Given the description of an element on the screen output the (x, y) to click on. 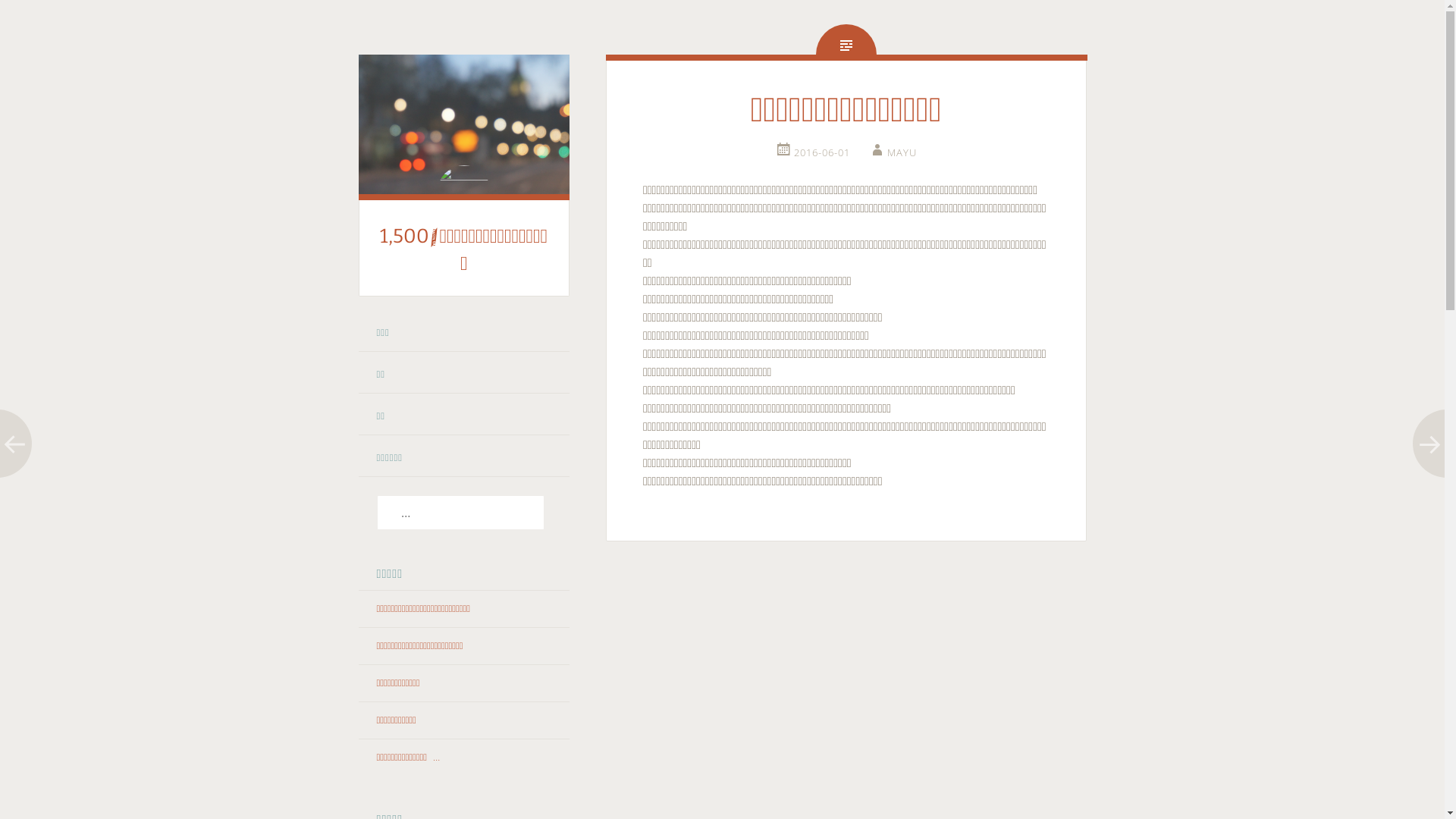
2016-06-01 Element type: text (812, 152)
MAYU Element type: text (892, 152)
